Given the description of an element on the screen output the (x, y) to click on. 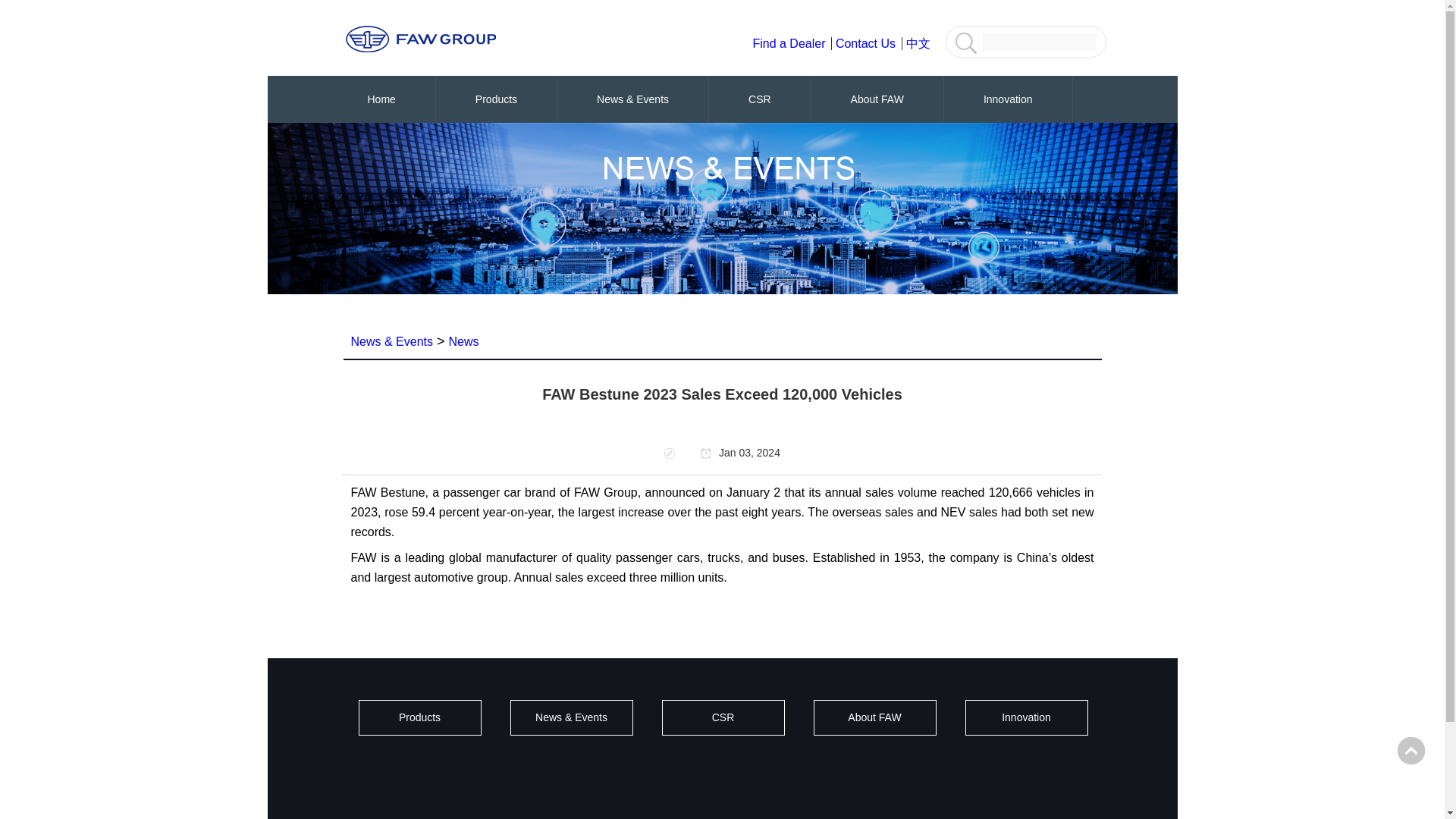
About FAW (876, 99)
Contact Us (868, 42)
Find a Dealer (791, 42)
CSR (759, 99)
Products (496, 99)
Home (381, 99)
